Given the description of an element on the screen output the (x, y) to click on. 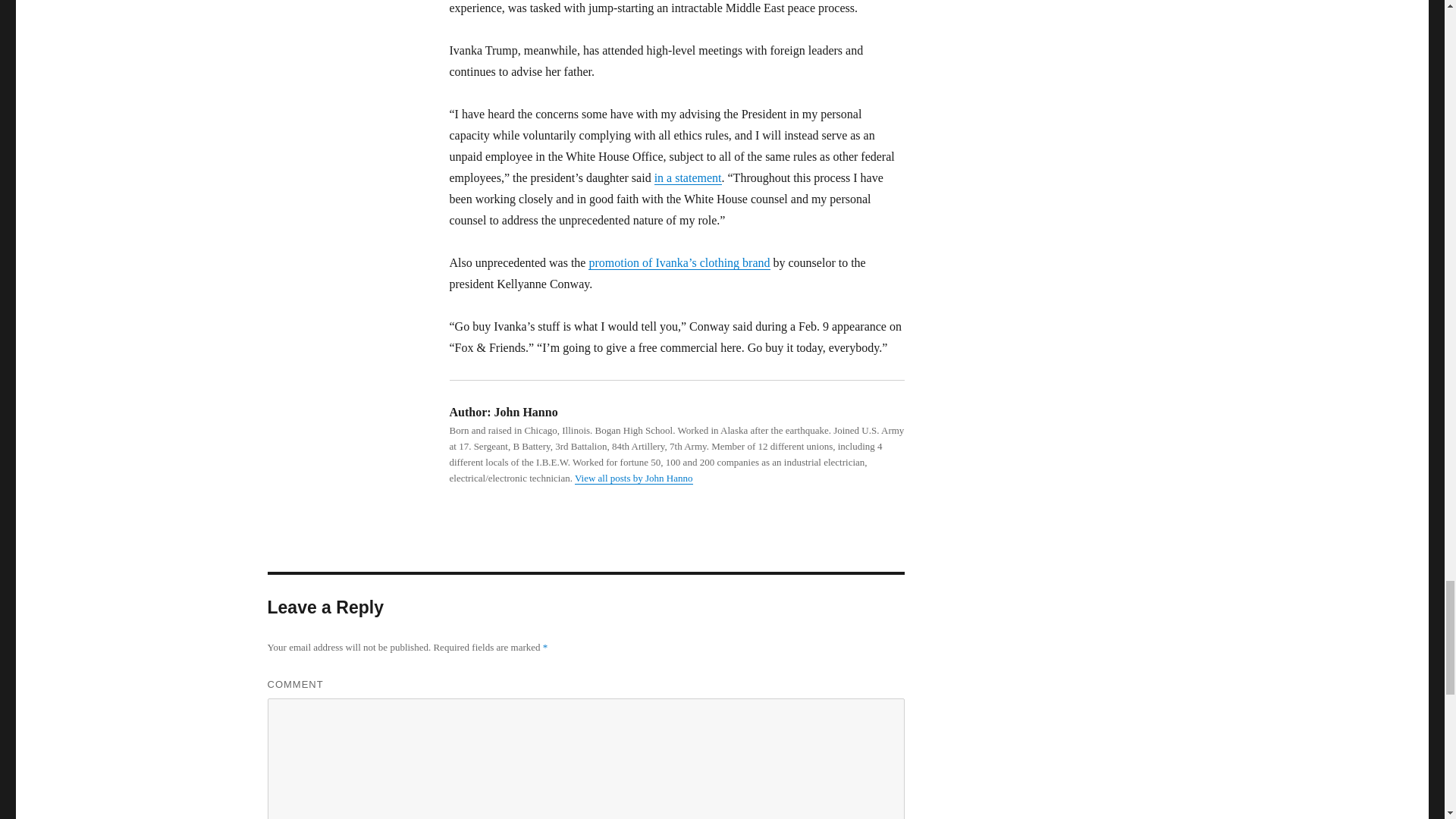
in a statement (687, 177)
View all posts by John Hanno (634, 478)
